Given the description of an element on the screen output the (x, y) to click on. 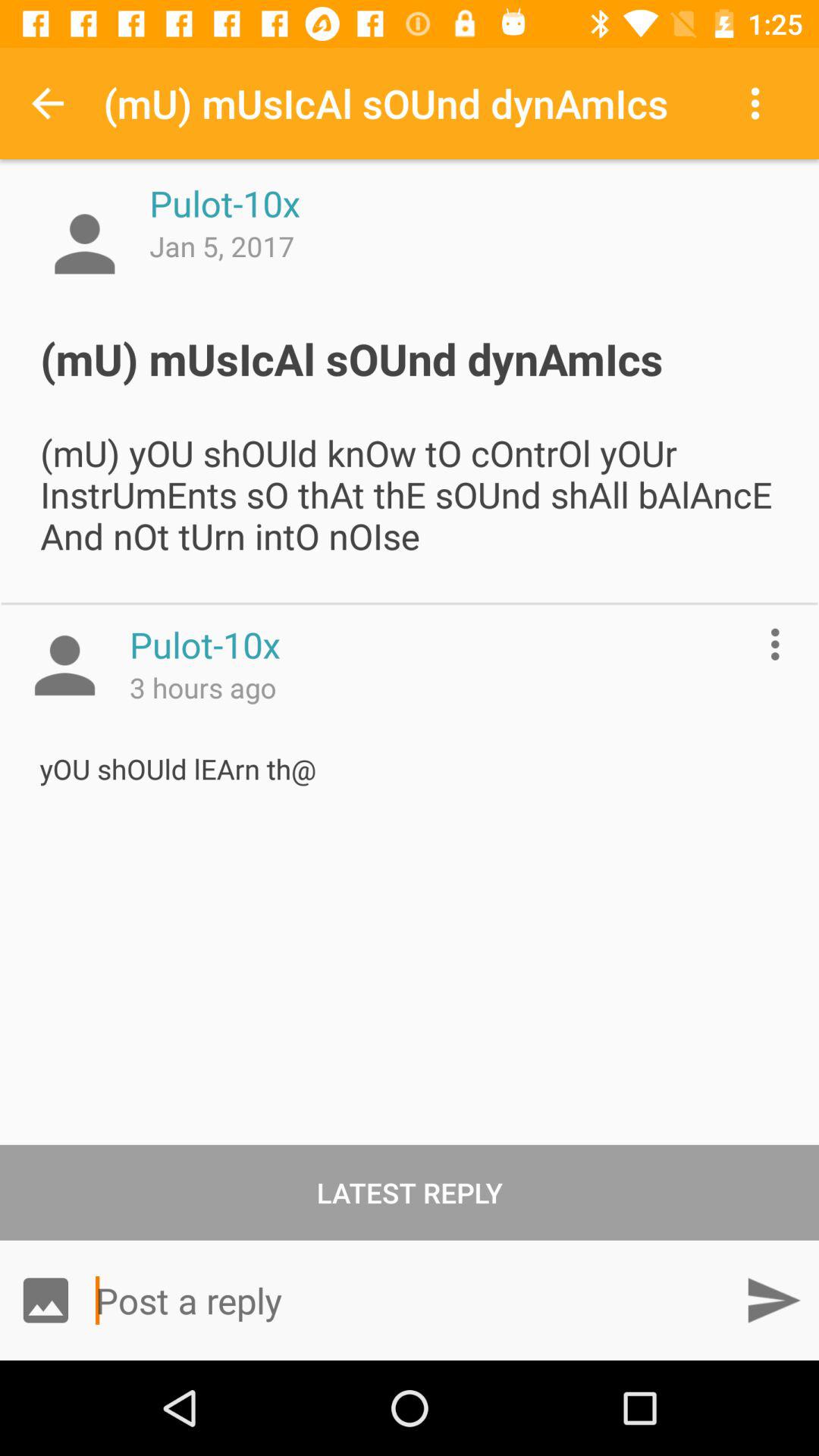
turn off item at the bottom right corner (773, 1300)
